Given the description of an element on the screen output the (x, y) to click on. 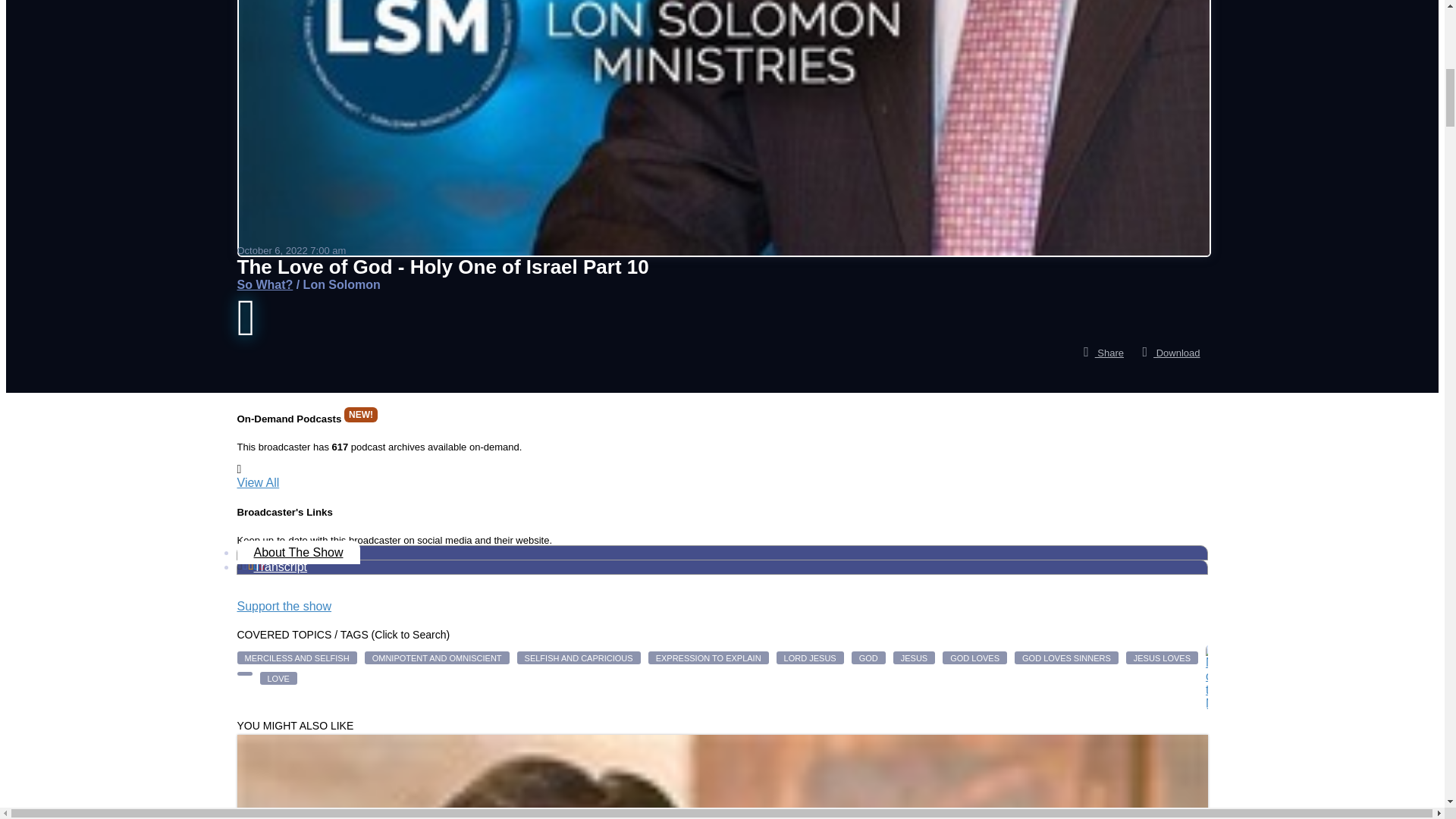
Go to Show Details (263, 284)
